Given the description of an element on the screen output the (x, y) to click on. 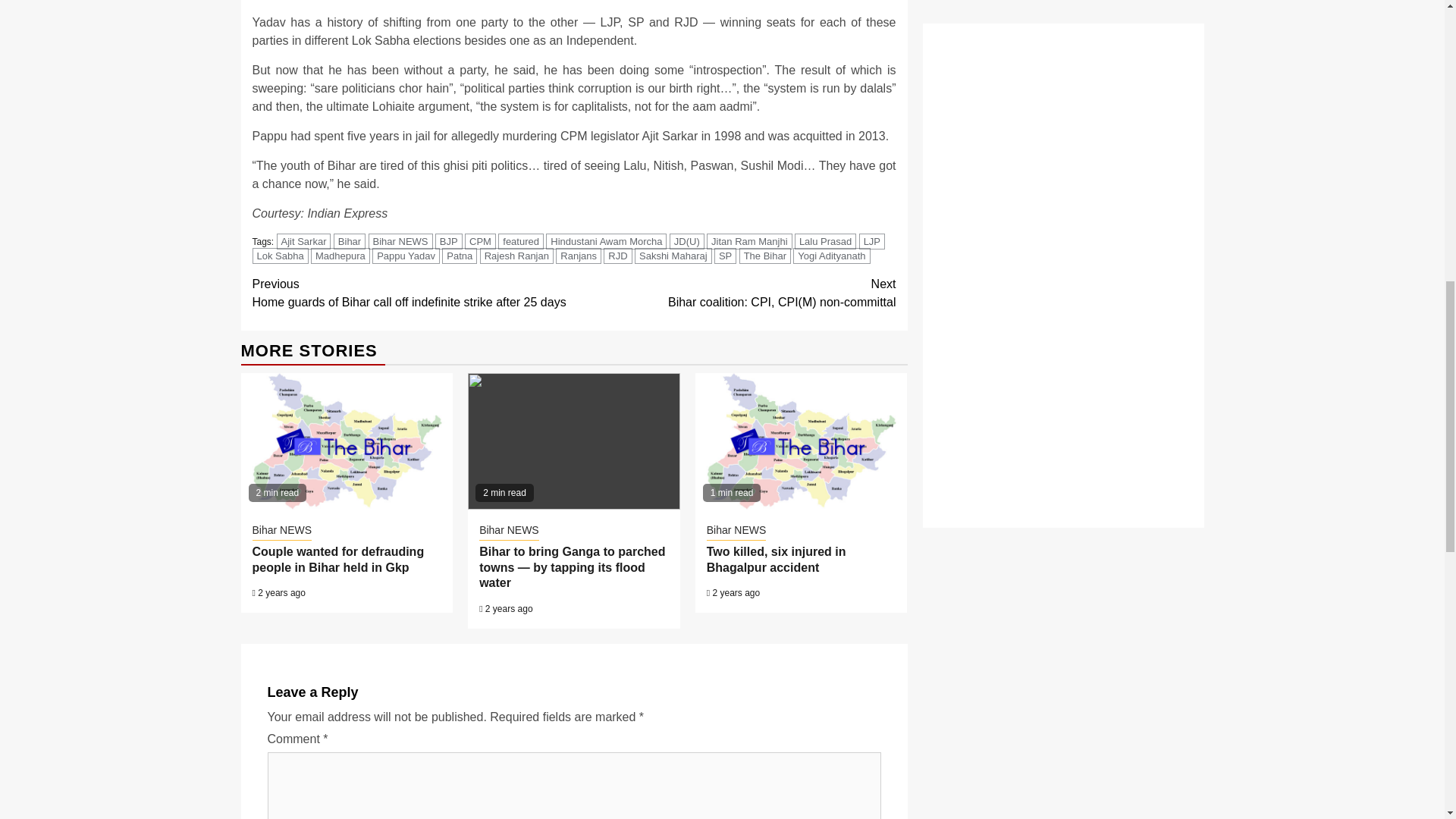
Ajit Sarkar (303, 241)
Jitan Ram Manjhi (749, 241)
Lalu Prasad (825, 241)
BJP (449, 241)
featured (520, 241)
Hindustani Awam Morcha (606, 241)
Bihar NEWS (400, 241)
Bihar (349, 241)
CPM (480, 241)
